Given the description of an element on the screen output the (x, y) to click on. 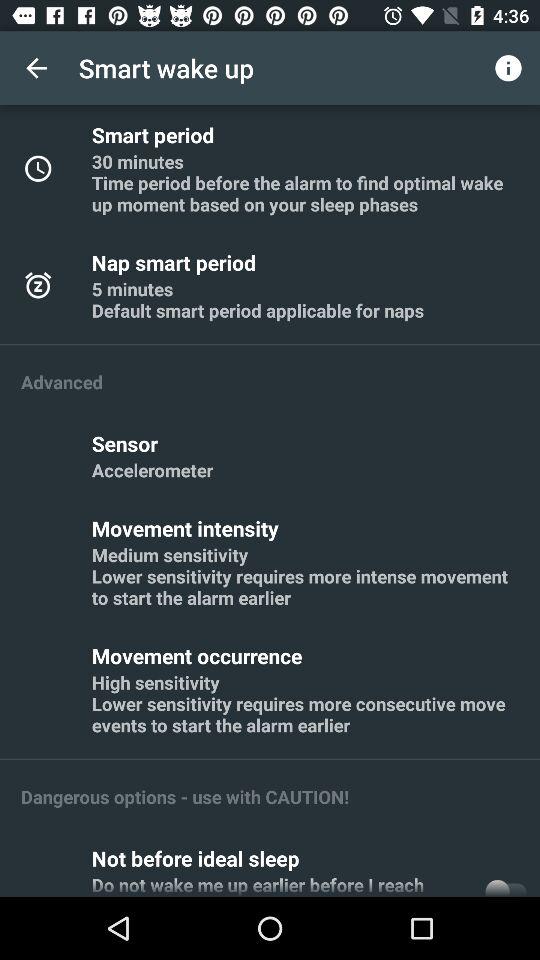
select item below sensor item (152, 469)
